Given the description of an element on the screen output the (x, y) to click on. 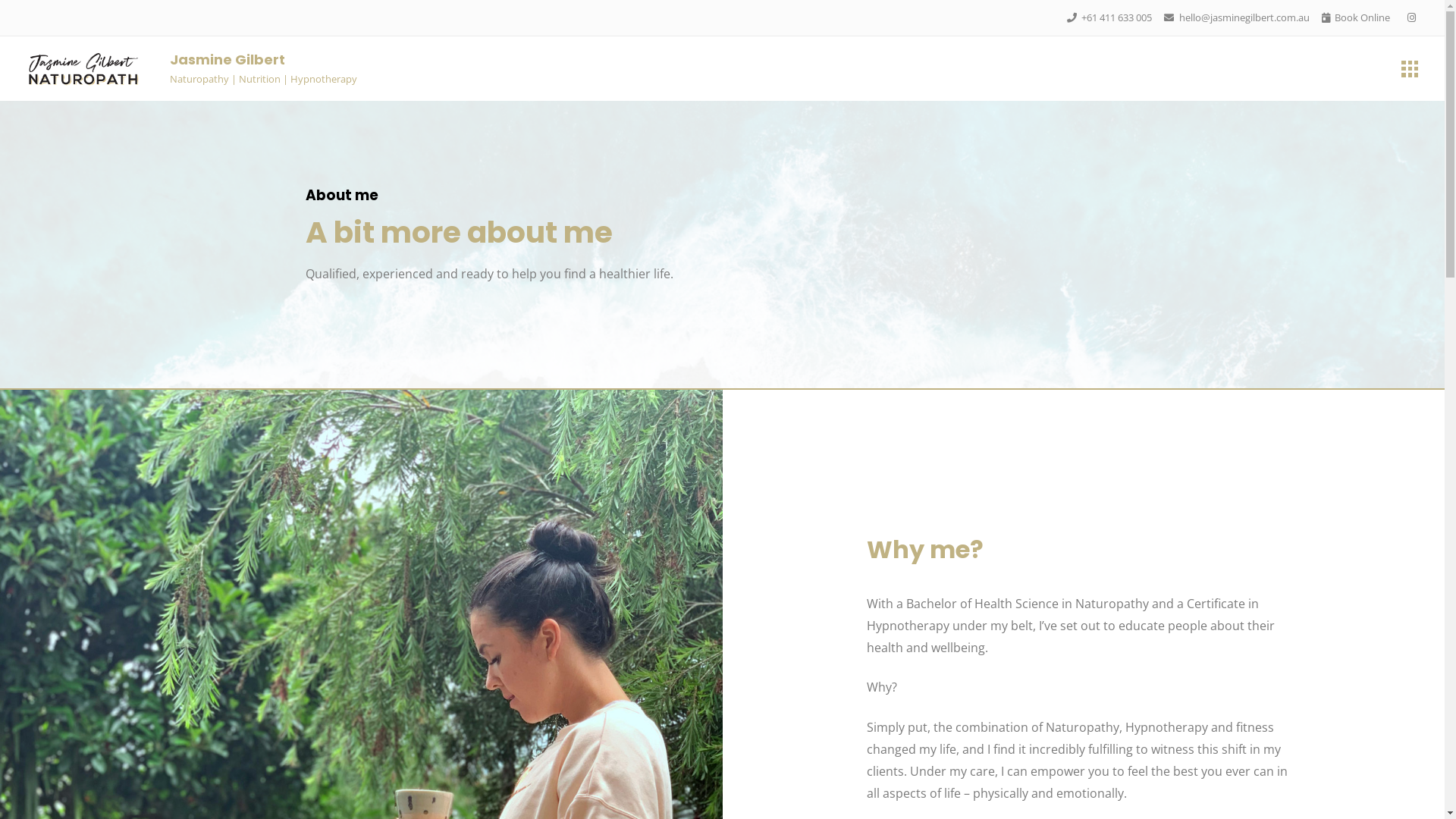
hello@jasminegilbert.com.au Element type: text (1244, 17)
Jasmine Gilbert Element type: text (227, 59)
+61 411 633 005 Element type: text (1116, 17)
Instagram Element type: hover (1411, 17)
Book Online Element type: text (1362, 17)
